Given the description of an element on the screen output the (x, y) to click on. 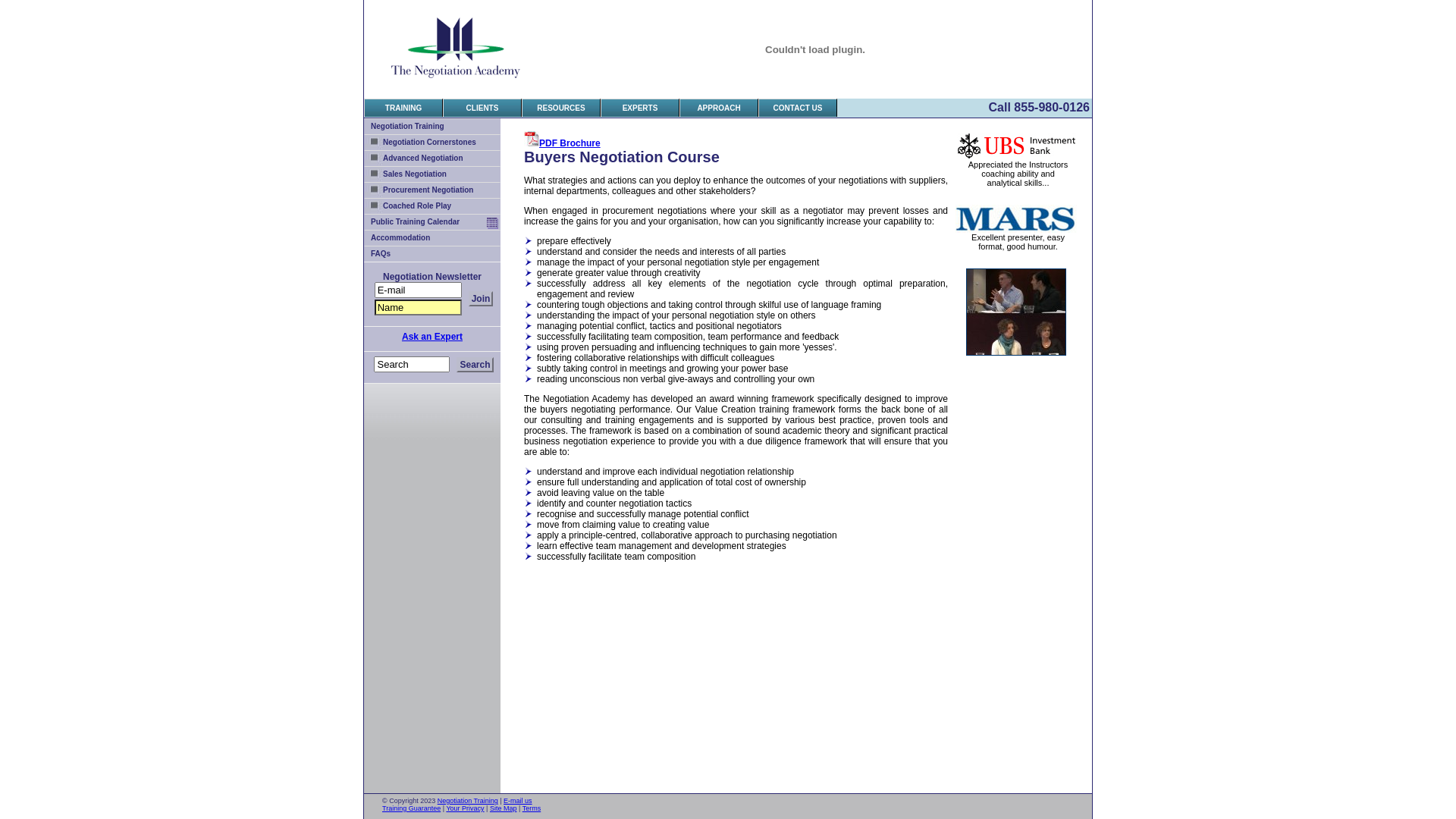
Advanced Negotiation Element type: text (432, 158)
Ask an Expert Element type: text (431, 336)
Excellent presenter, easy format, good humour. Element type: text (1017, 241)
Terms Element type: text (531, 808)
Site Map Element type: text (503, 808)
APPROACH Element type: text (718, 107)
Search Element type: text (474, 363)
EXPERTS Element type: text (639, 107)
Role Play Video Frame Element type: hover (1016, 352)
Negotiation Cornerstones Element type: text (432, 142)
Public Training Calendar Element type: text (432, 221)
Negotiation Search Element type: hover (474, 363)
UBS Investment Bank Element type: hover (1016, 146)
TRAINING Element type: text (403, 107)
Coached Role Play Element type: text (432, 205)
RESOURCES Element type: text (560, 107)
Sales Negotiation Element type: text (432, 174)
Mars Element type: hover (1015, 218)
Procurement Negotiation Element type: text (432, 189)
Your Privacy Element type: text (464, 808)
CLIENTS Element type: text (481, 107)
Negotiation News Element type: hover (480, 298)
Mars Element type: hover (1015, 229)
E-mail us Element type: text (517, 800)
Role Play Video Frame Element type: hover (1016, 311)
CONTACT US Element type: text (797, 107)
Negotiation Training Element type: text (432, 126)
UBS Investment Bank Element type: hover (1016, 156)
Training Guarantee Element type: text (411, 808)
Negotiation Training Element type: text (467, 800)
FAQs Element type: text (432, 253)
Accommodation Element type: text (432, 237)
PDF Brochure Element type: text (562, 143)
Join Element type: text (480, 298)
